Given the description of an element on the screen output the (x, y) to click on. 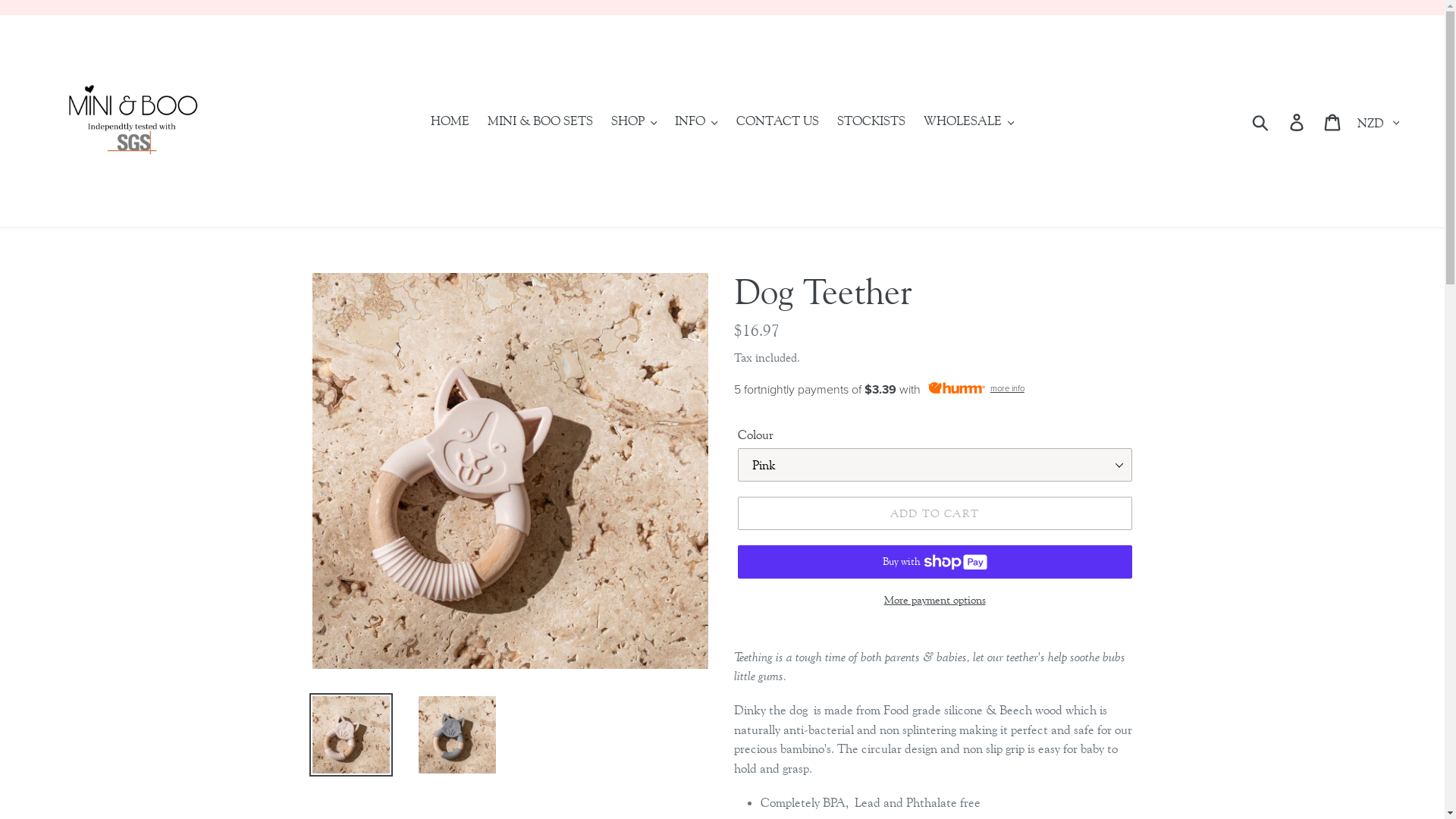
HOME Element type: text (449, 121)
Cart Element type: text (1333, 120)
STOCKISTS Element type: text (871, 121)
More payment options Element type: text (934, 599)
MINI & BOO SETS Element type: text (540, 121)
Submit Element type: text (1261, 121)
CONTACT US Element type: text (777, 121)
ADD TO CART Element type: text (934, 513)
Log in Element type: text (1297, 120)
5 fortnightly payments of $3.39 with more info Element type: text (934, 389)
